Given the description of an element on the screen output the (x, y) to click on. 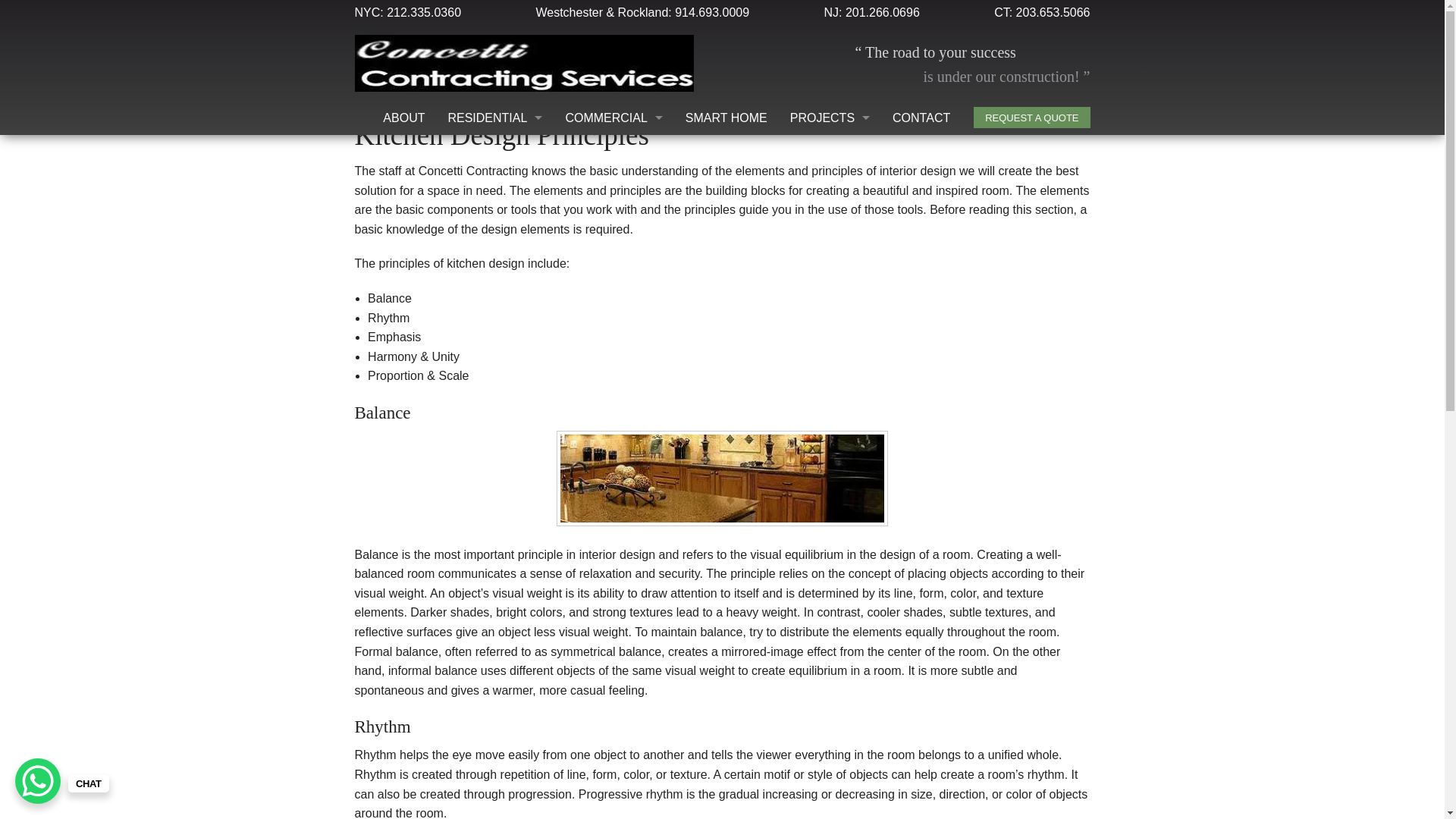
CUSTOM CABINETS (494, 185)
RESIDENTIAL (494, 117)
RESTAURANT CONSTRUCTION (612, 151)
NEWS (829, 185)
Commercial Building Services (612, 117)
OUR PAST PROJECTS (829, 151)
Construction jobs portfolio (829, 117)
REQUEST A QUOTE (1031, 117)
WINDOWS AND DOORS (494, 458)
HOME FLOORING (494, 288)
KITCHEN REMODELING (494, 322)
SOLAR INSTALLATION (494, 424)
NIGHT CLUB CONSTRUCTION (612, 220)
COMMERCIAL (612, 117)
ROOFING (494, 390)
